Given the description of an element on the screen output the (x, y) to click on. 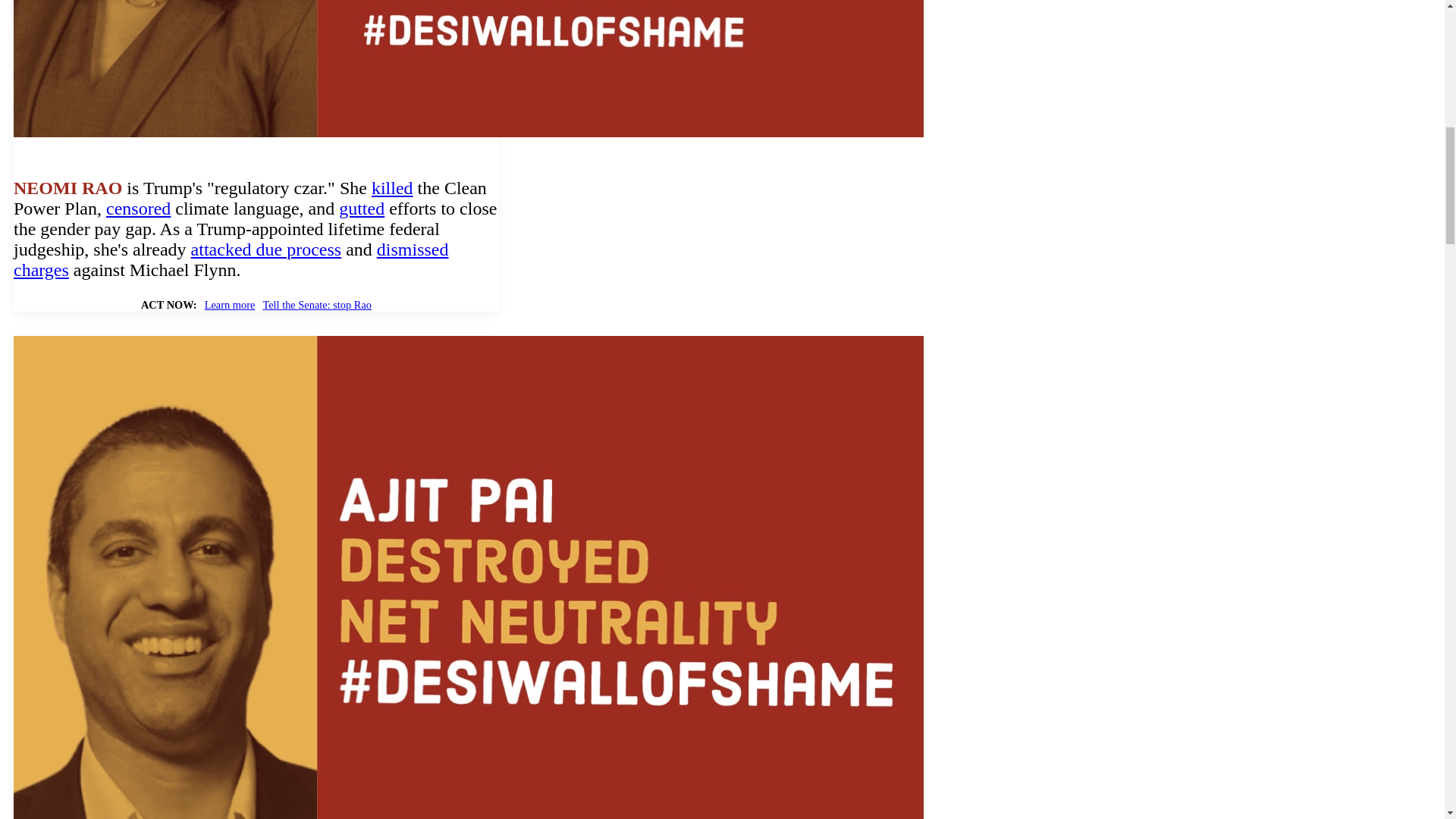
Learn more (230, 304)
dismissed charges (230, 259)
censored (138, 208)
Tell the Senate: stop Rao (316, 304)
attacked due process (266, 249)
gutted (361, 208)
killed (392, 188)
